Given the description of an element on the screen output the (x, y) to click on. 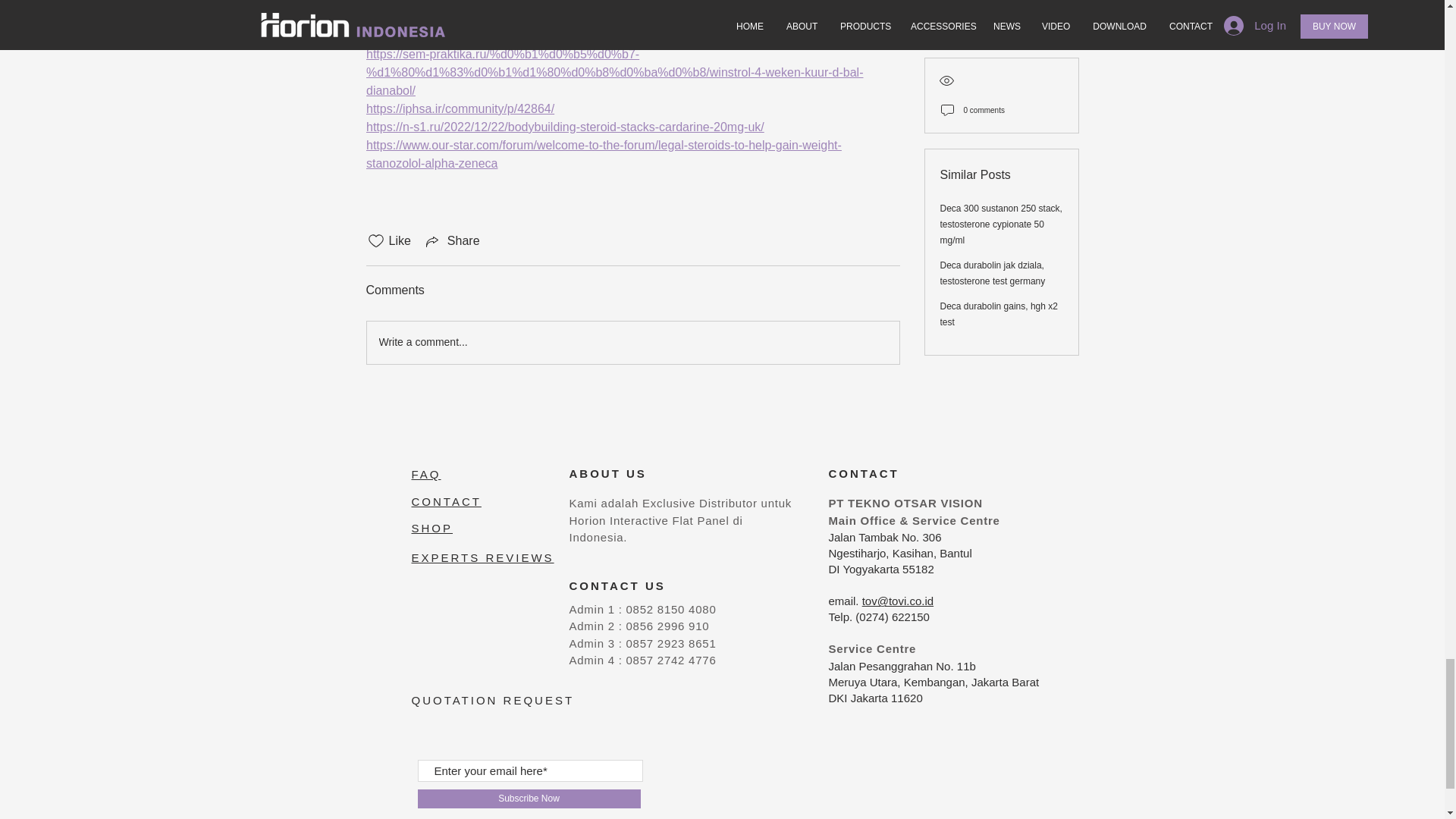
Subscribe Now (528, 798)
Share (451, 240)
CONTACT (445, 501)
SHOP (431, 527)
Write a comment... (632, 342)
FAQ (425, 473)
EXPERTS REVIEWS (481, 557)
